Given the description of an element on the screen output the (x, y) to click on. 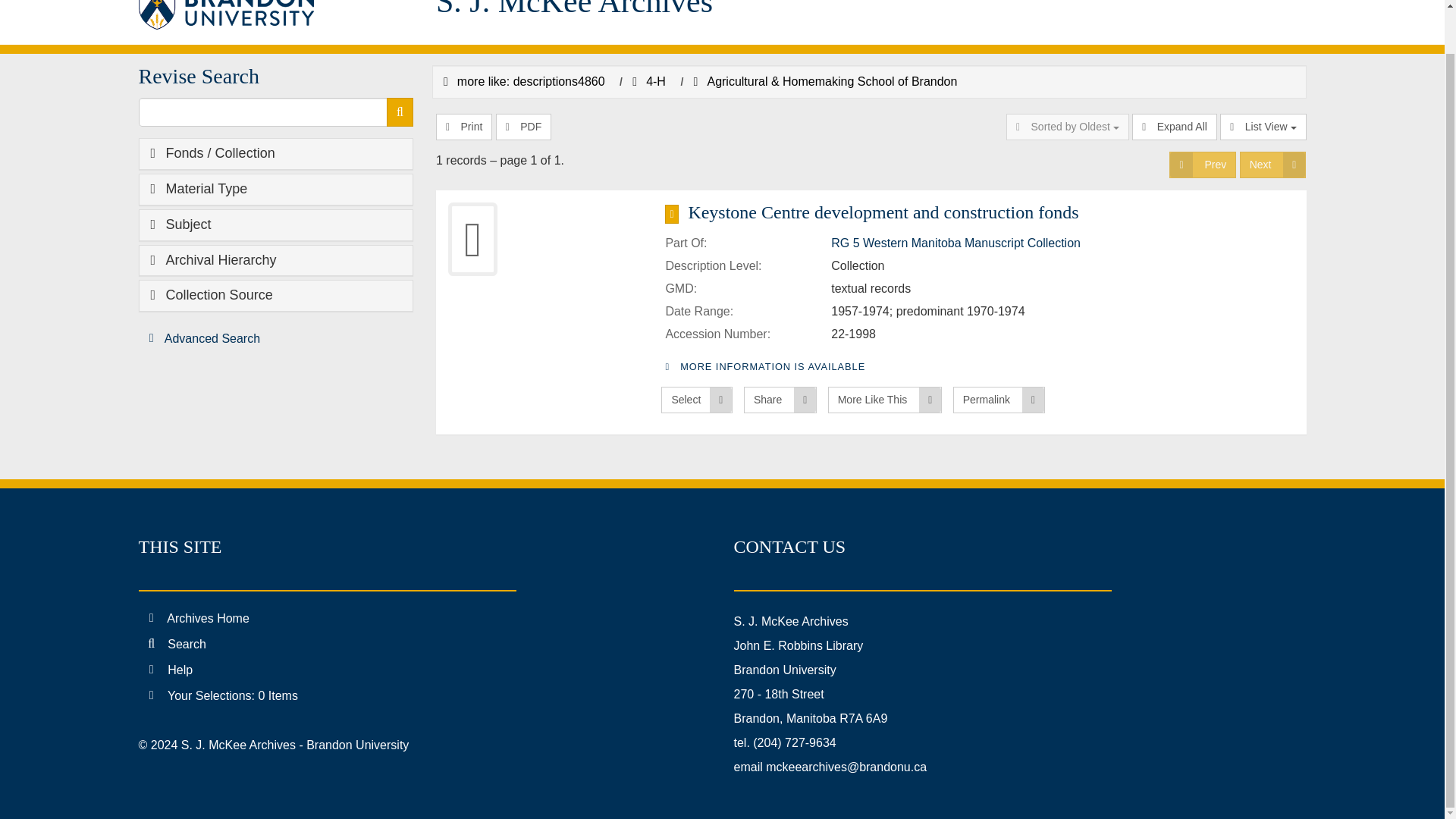
Permalink (999, 399)
S. J. McKee Archives (671, 12)
Search (400, 111)
Remove more like: descriptions4860 (524, 81)
Select (696, 399)
More Like This (885, 399)
Show All Information (990, 211)
